Given the description of an element on the screen output the (x, y) to click on. 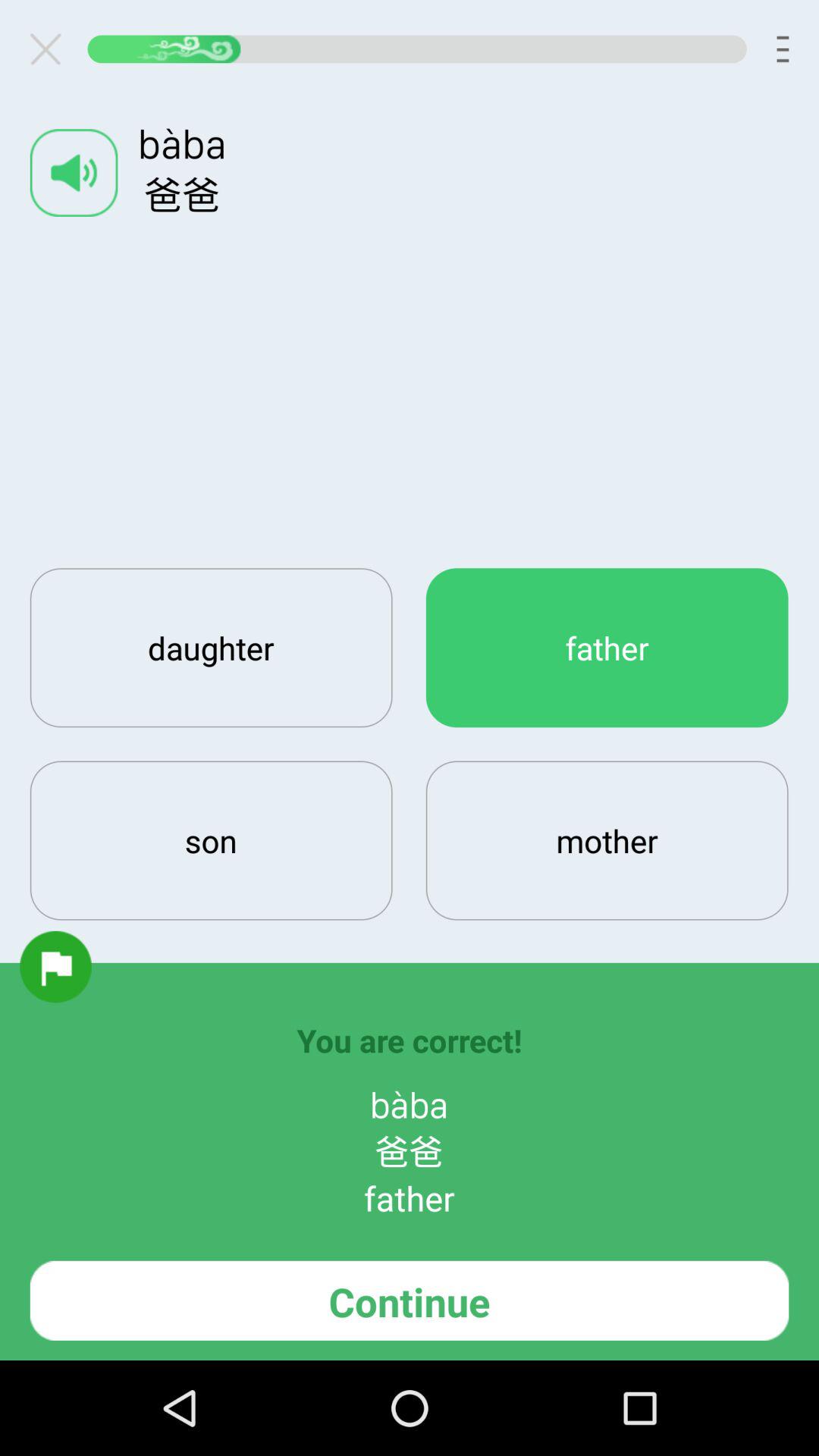
flag (55, 966)
